Given the description of an element on the screen output the (x, y) to click on. 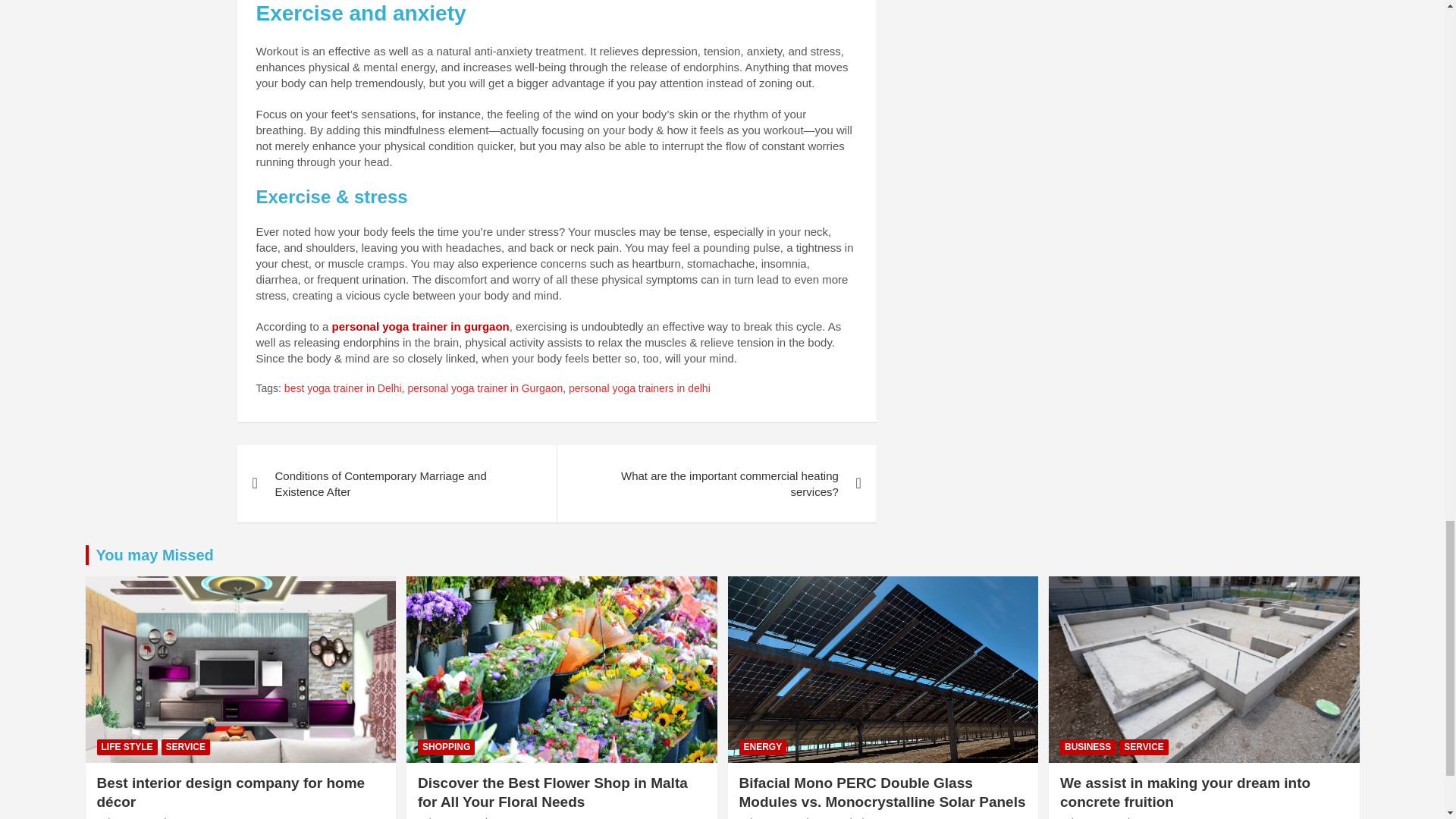
We assist in making your dream into concrete fruition (1090, 817)
